Given the description of an element on the screen output the (x, y) to click on. 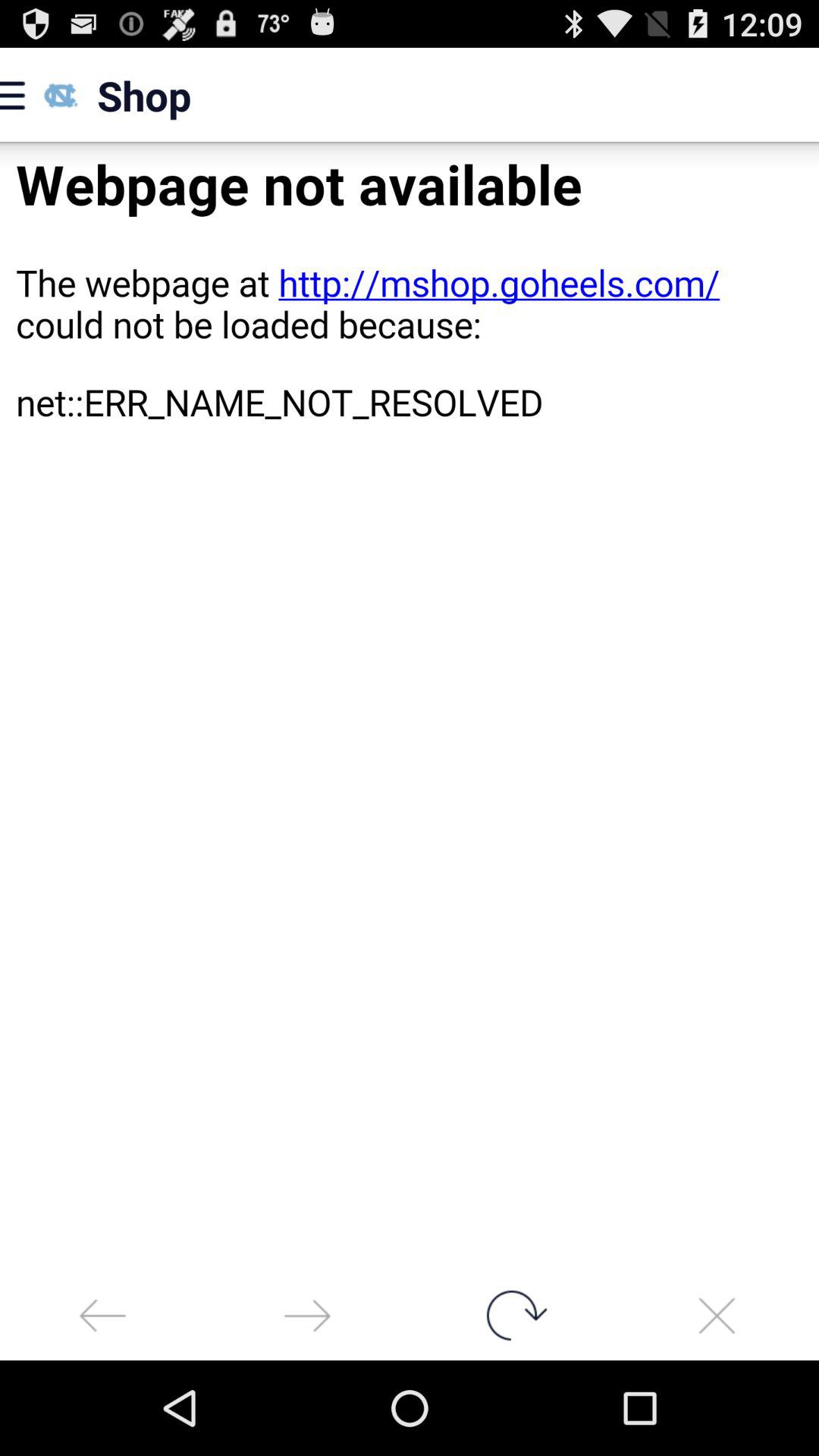
rotate button (511, 1315)
